Given the description of an element on the screen output the (x, y) to click on. 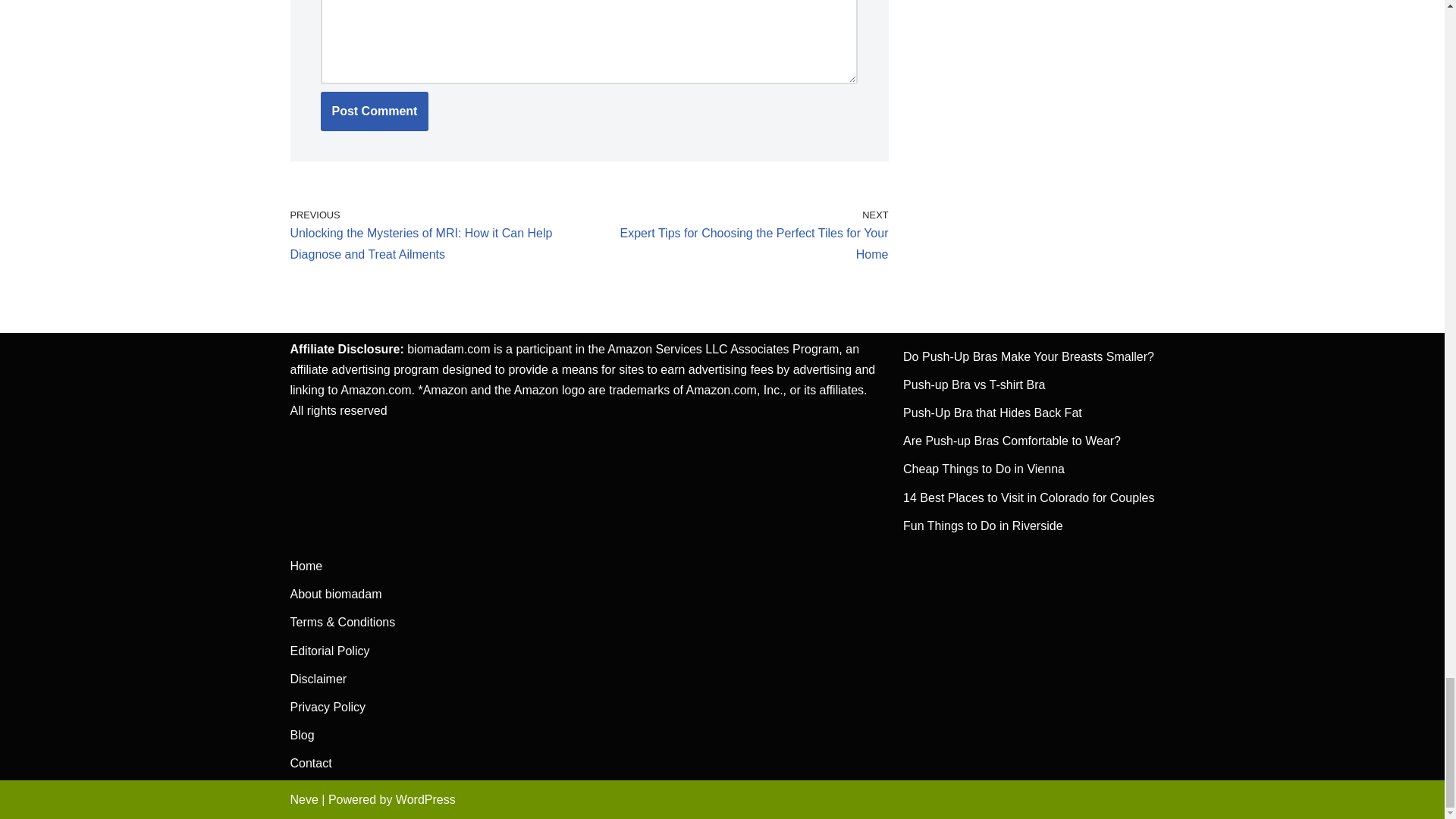
Post Comment (374, 111)
Post Comment (374, 111)
